Given the description of an element on the screen output the (x, y) to click on. 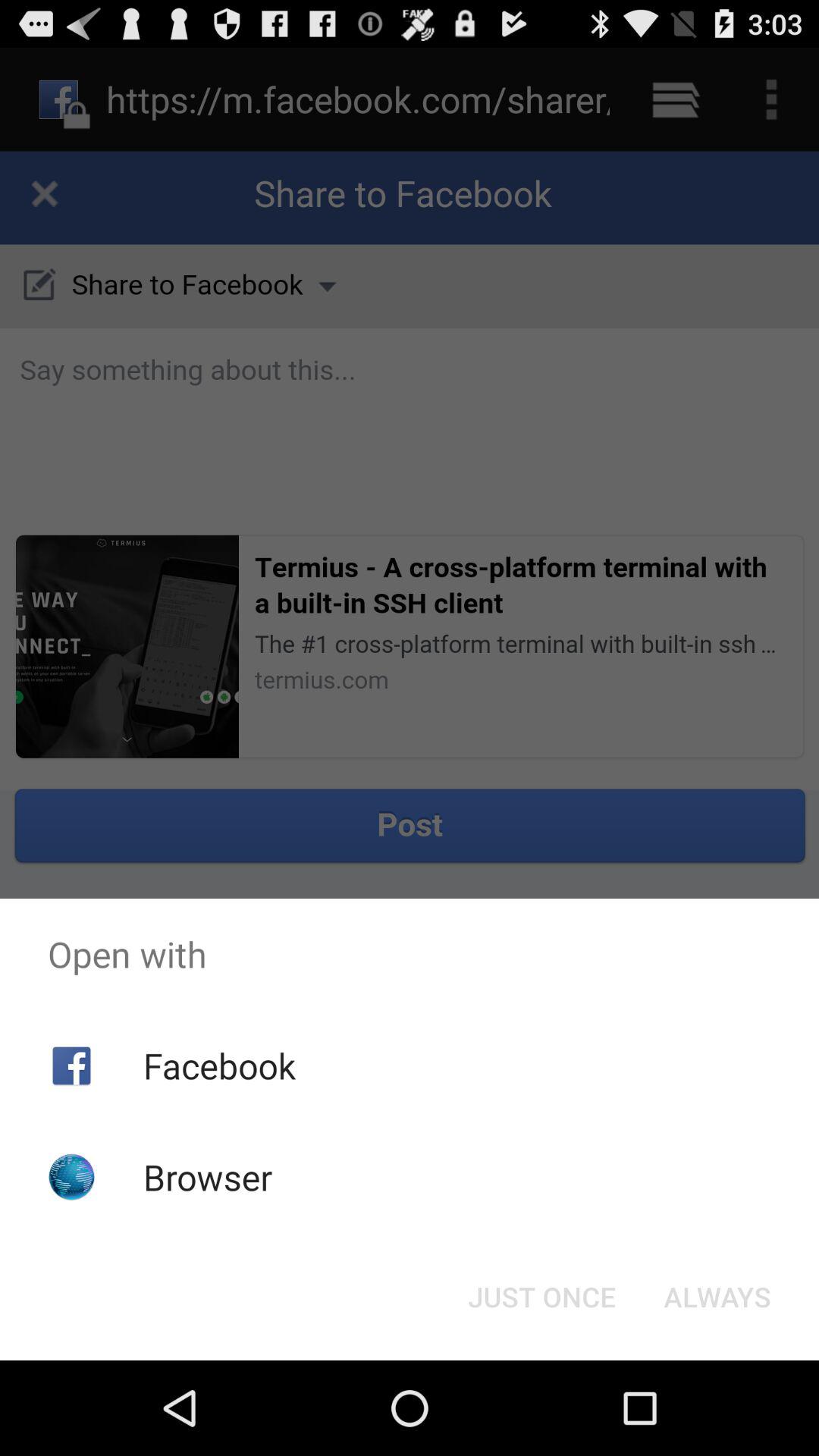
tap the app below open with app (219, 1065)
